Given the description of an element on the screen output the (x, y) to click on. 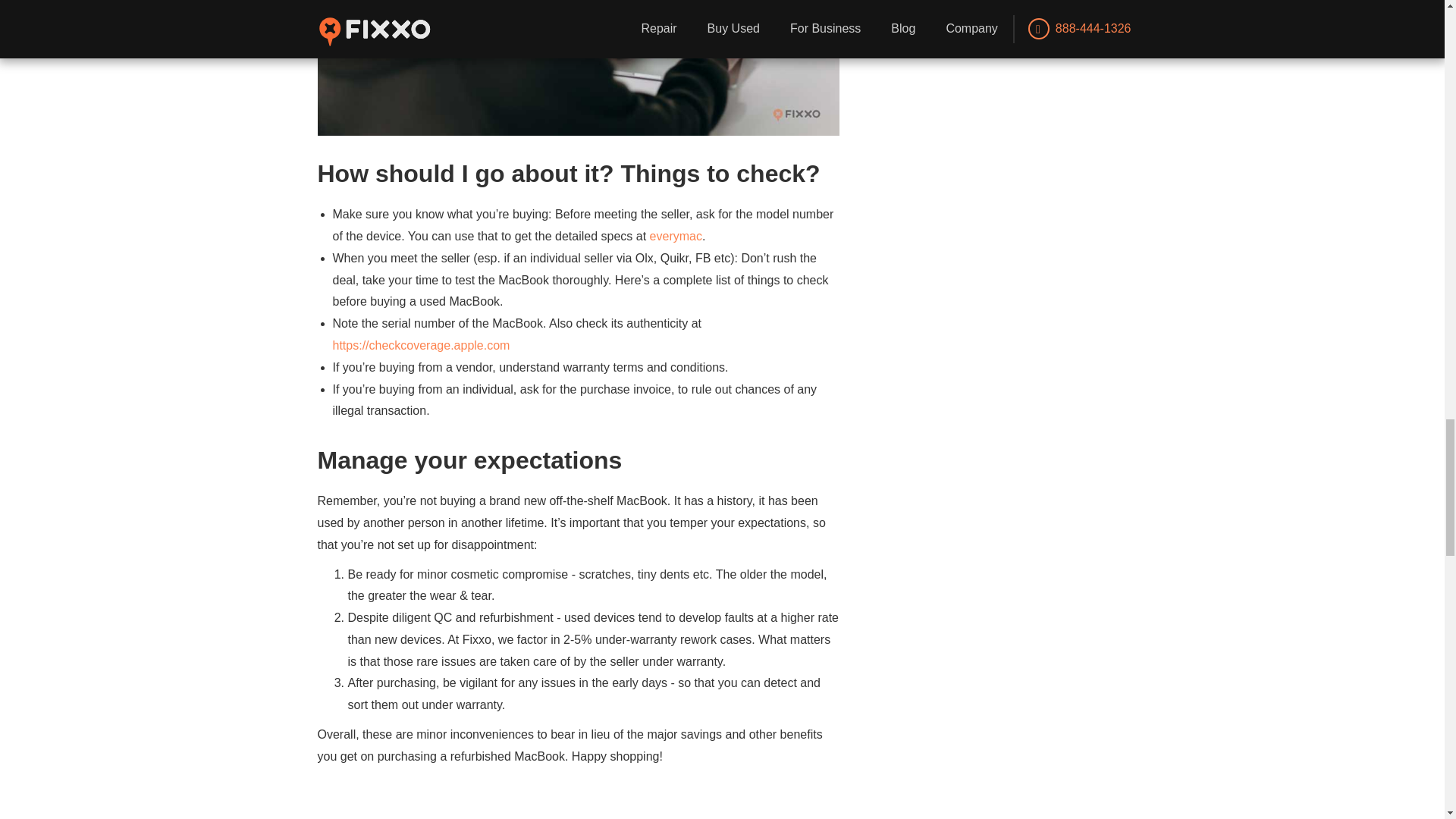
everymac (675, 236)
